Given the description of an element on the screen output the (x, y) to click on. 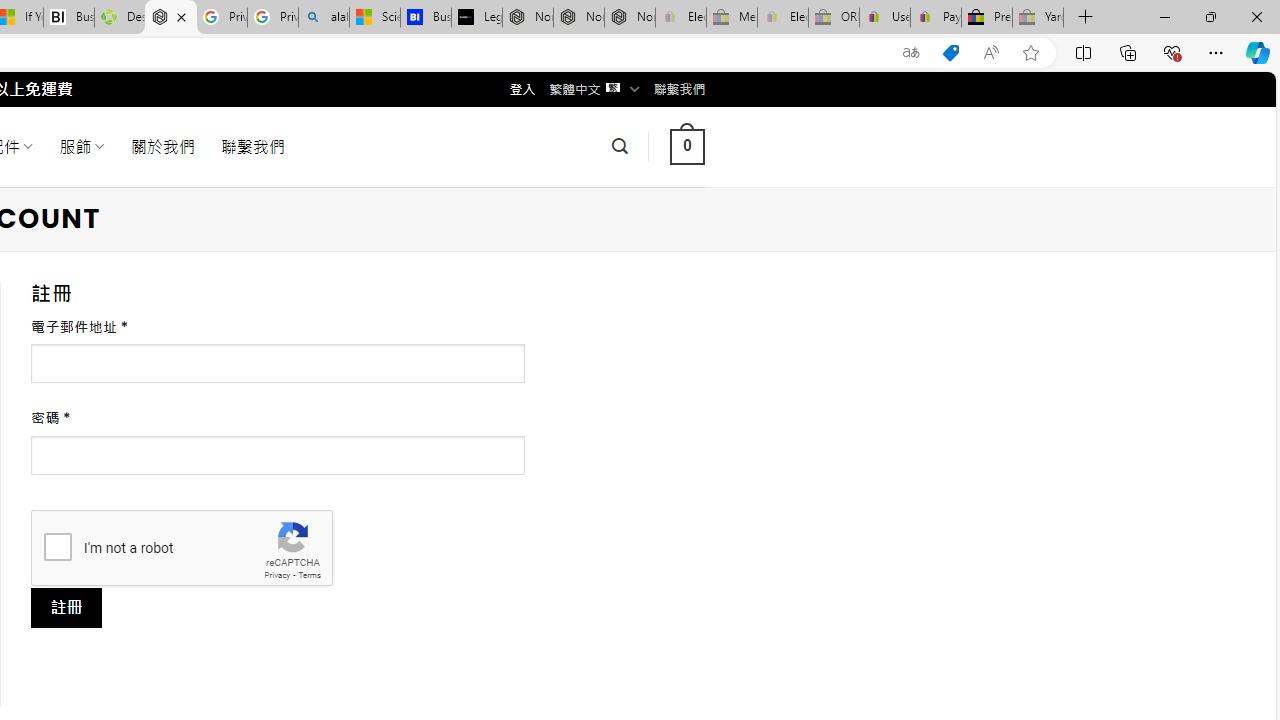
Payments Terms of Use | eBay.com (936, 17)
  0   (687, 146)
Press Room - eBay Inc. (987, 17)
Yard, Garden & Outdoor Living - Sleeping (1037, 17)
